Given the description of an element on the screen output the (x, y) to click on. 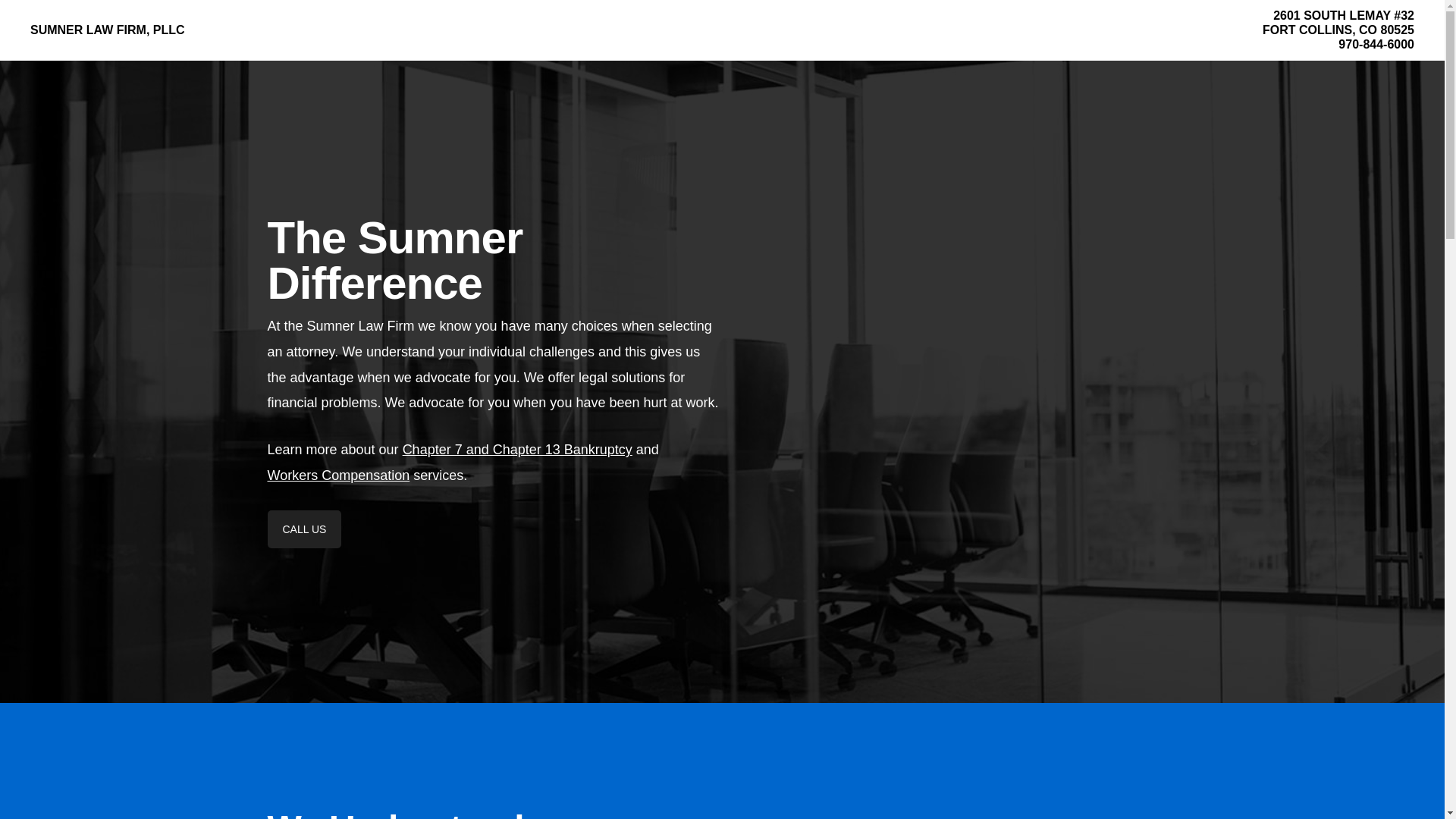
Chapter 7 and Chapter 13 Bankruptcy (517, 449)
CALL US (303, 528)
Workers Compensation (337, 475)
970-844-6000 (1375, 43)
SUMNER LAW FIRM, PLLC (107, 29)
